Given the description of an element on the screen output the (x, y) to click on. 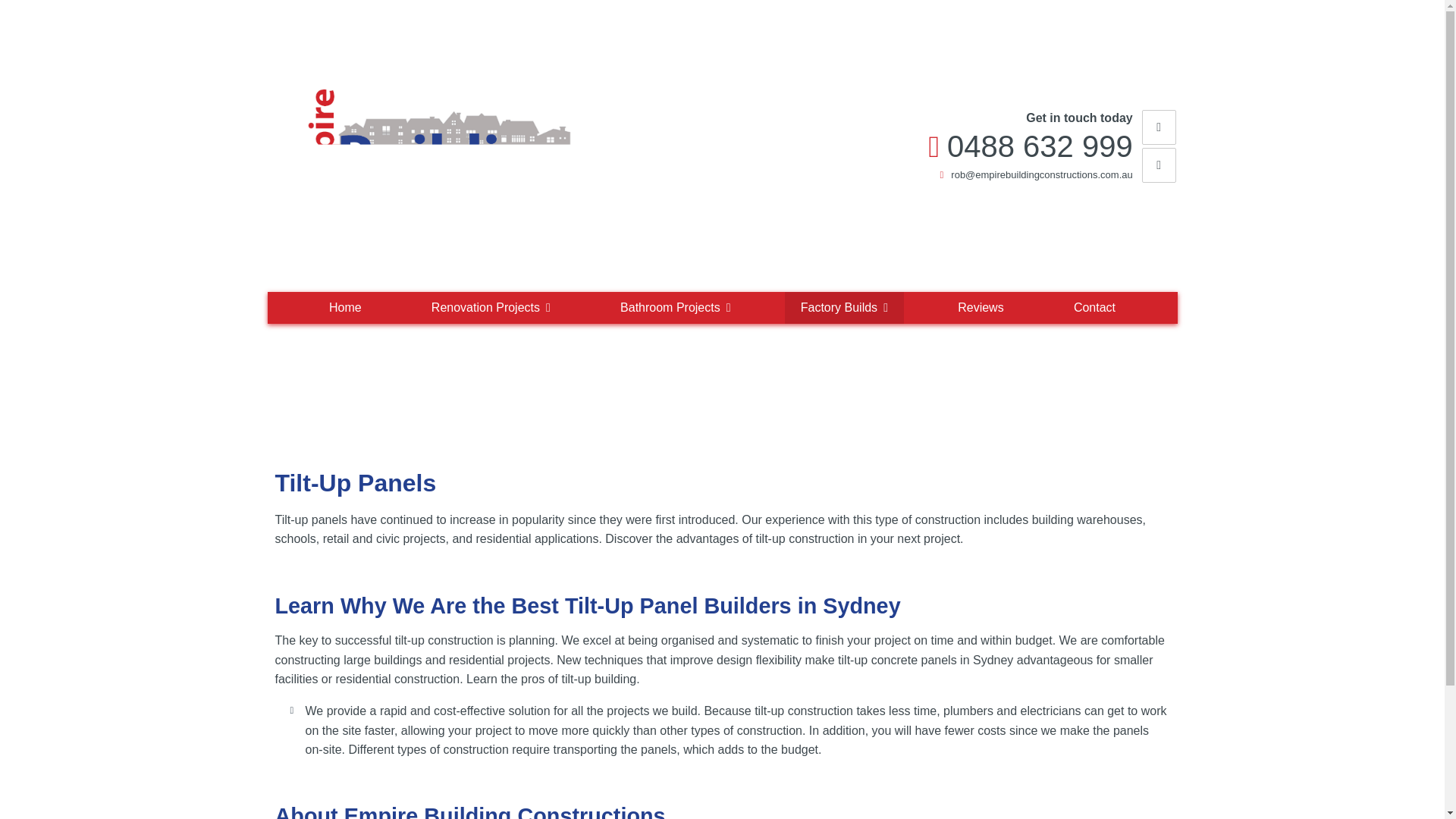
Contact (1094, 307)
0488 632 999 (1039, 145)
Bathroom Projects (674, 307)
Factory Builds (844, 307)
Home (345, 307)
Renovation Projects (490, 307)
Reviews (980, 307)
